Given the description of an element on the screen output the (x, y) to click on. 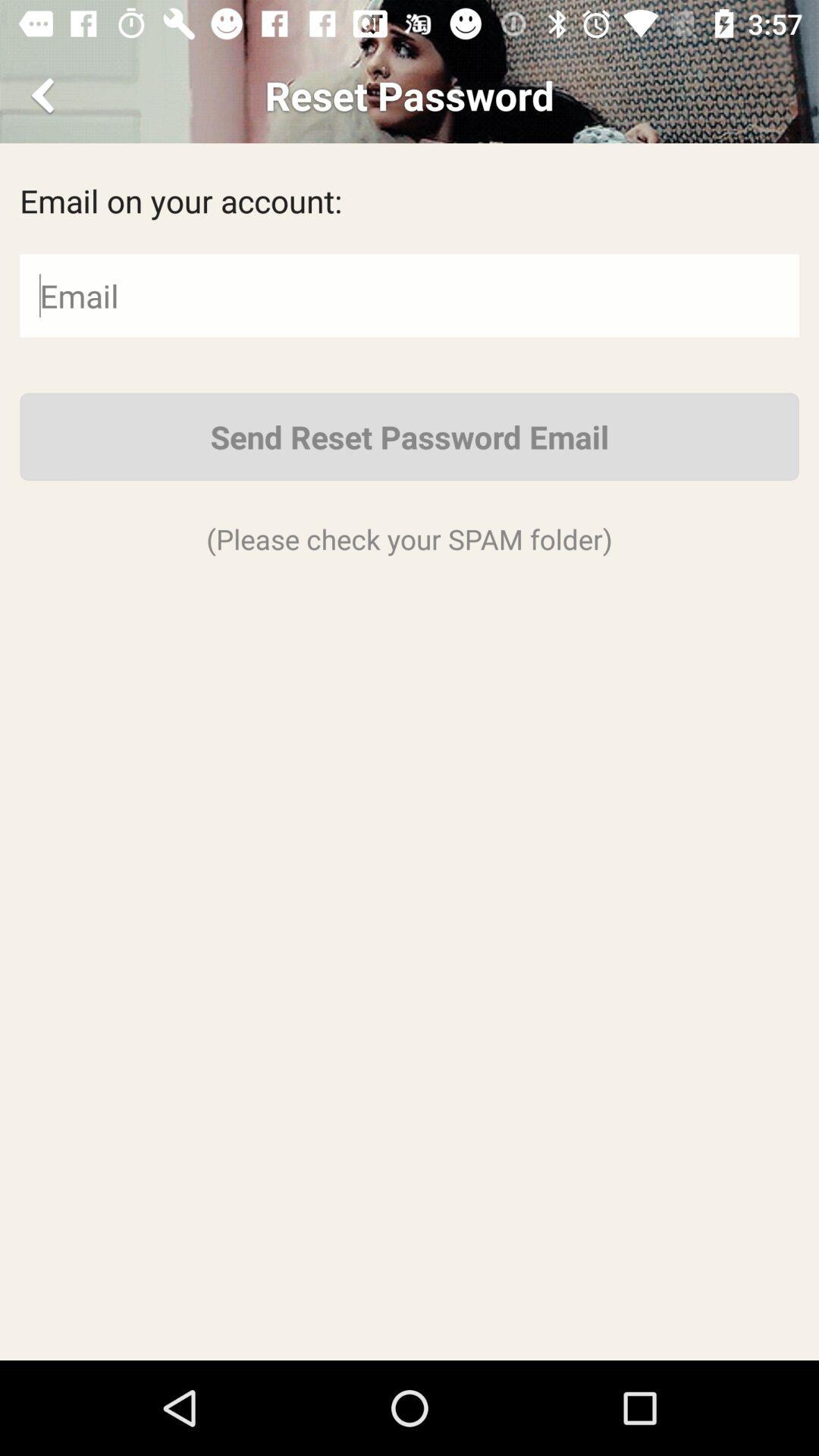
it is go to previous page element (45, 95)
